Given the description of an element on the screen output the (x, y) to click on. 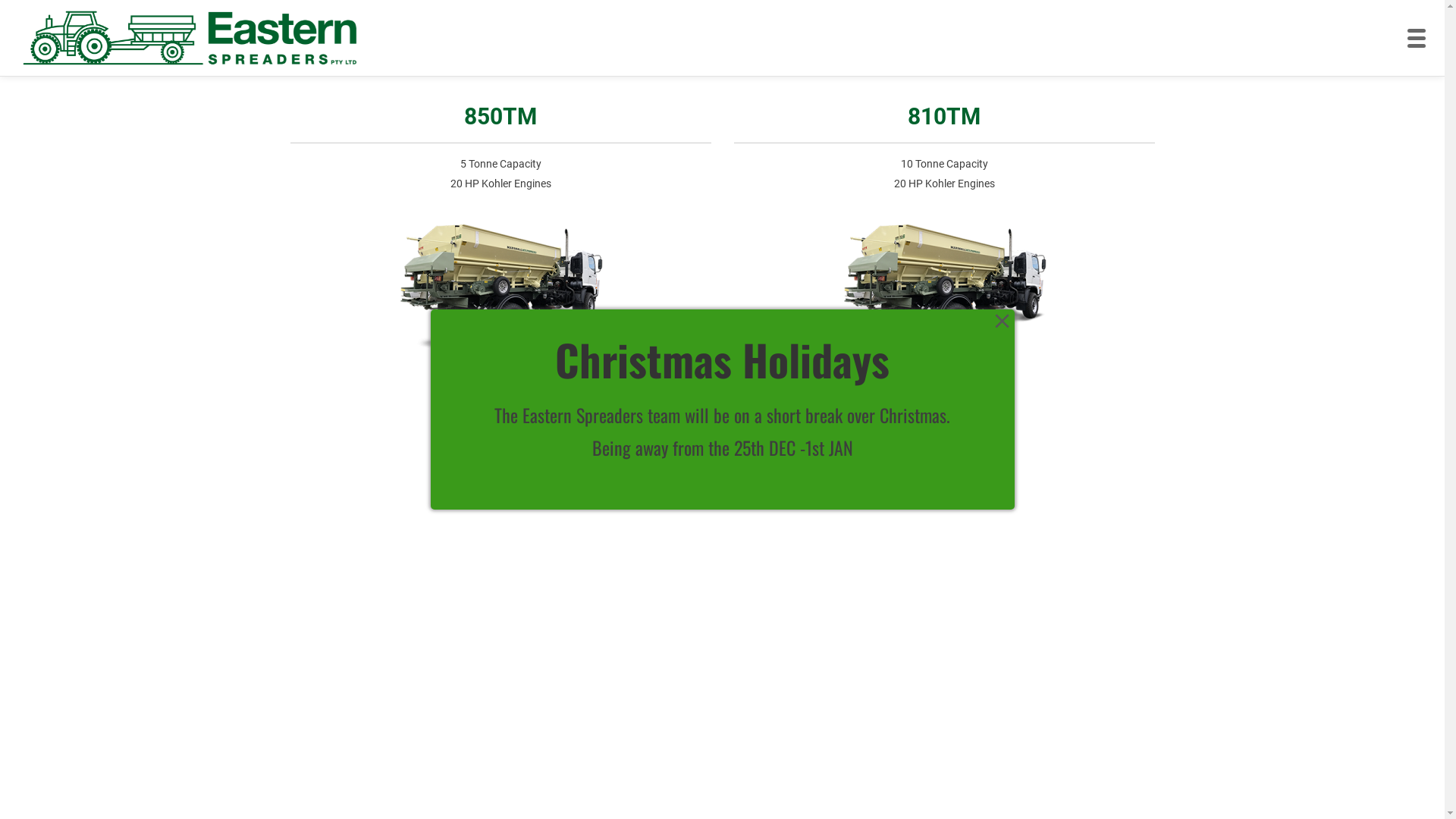
Learn More Element type: text (500, 402)
Truck-300x201 Element type: hover (943, 292)
Truck-300x201 Element type: hover (500, 292)
Learn More Element type: text (943, 402)
